Given the description of an element on the screen output the (x, y) to click on. 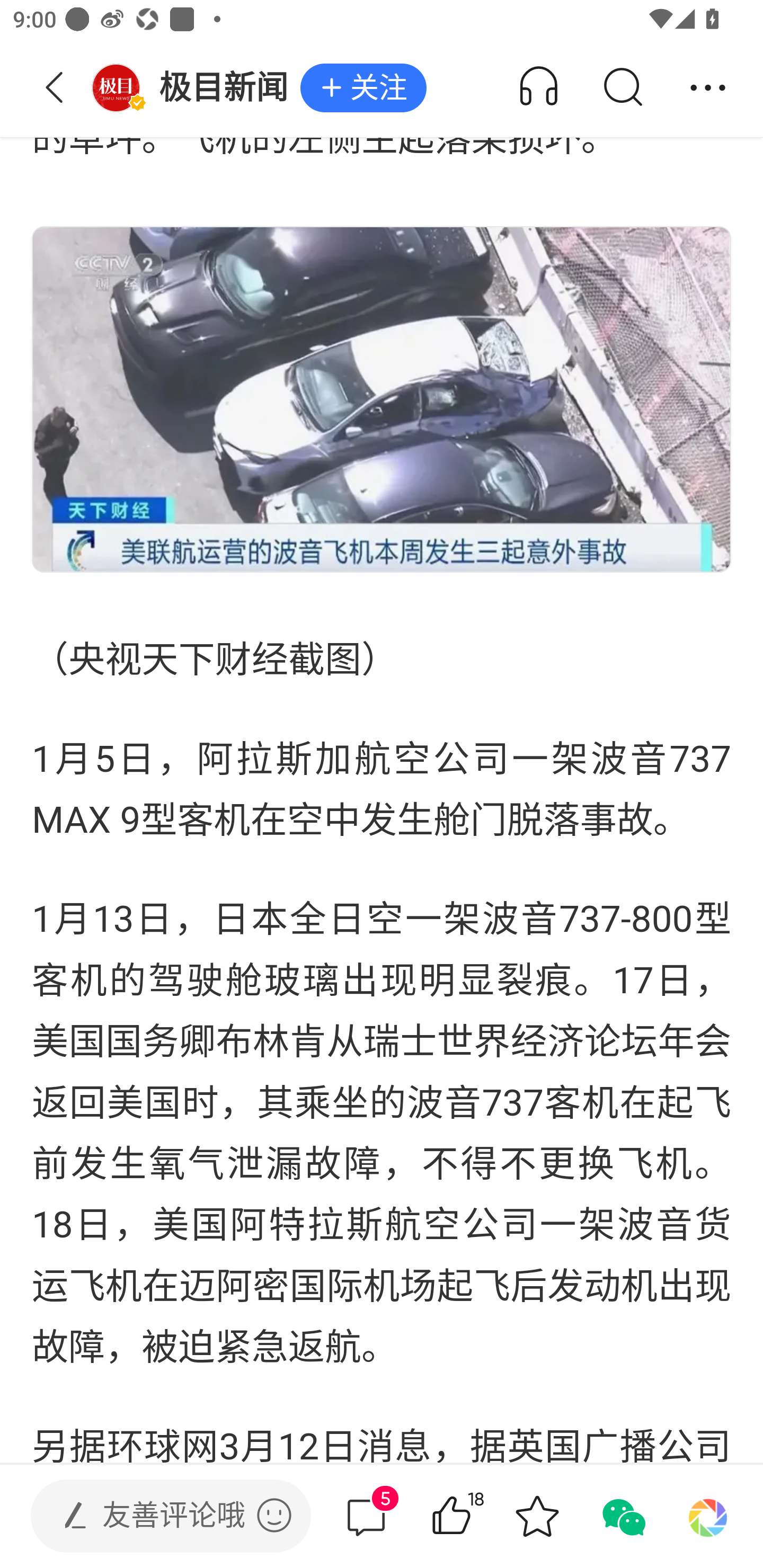
极目新闻 (195, 87)
搜索  (622, 87)
分享  (707, 87)
 返回 (54, 87)
 关注 (363, 88)
新闻图片 (381, 398)
发表评论  友善评论哦 发表评论  (155, 1516)
5评论  5 评论 (365, 1516)
18赞 (476, 1516)
收藏  (536, 1516)
分享到微信  (622, 1516)
分享到朋友圈 (707, 1516)
 (274, 1515)
